Given the description of an element on the screen output the (x, y) to click on. 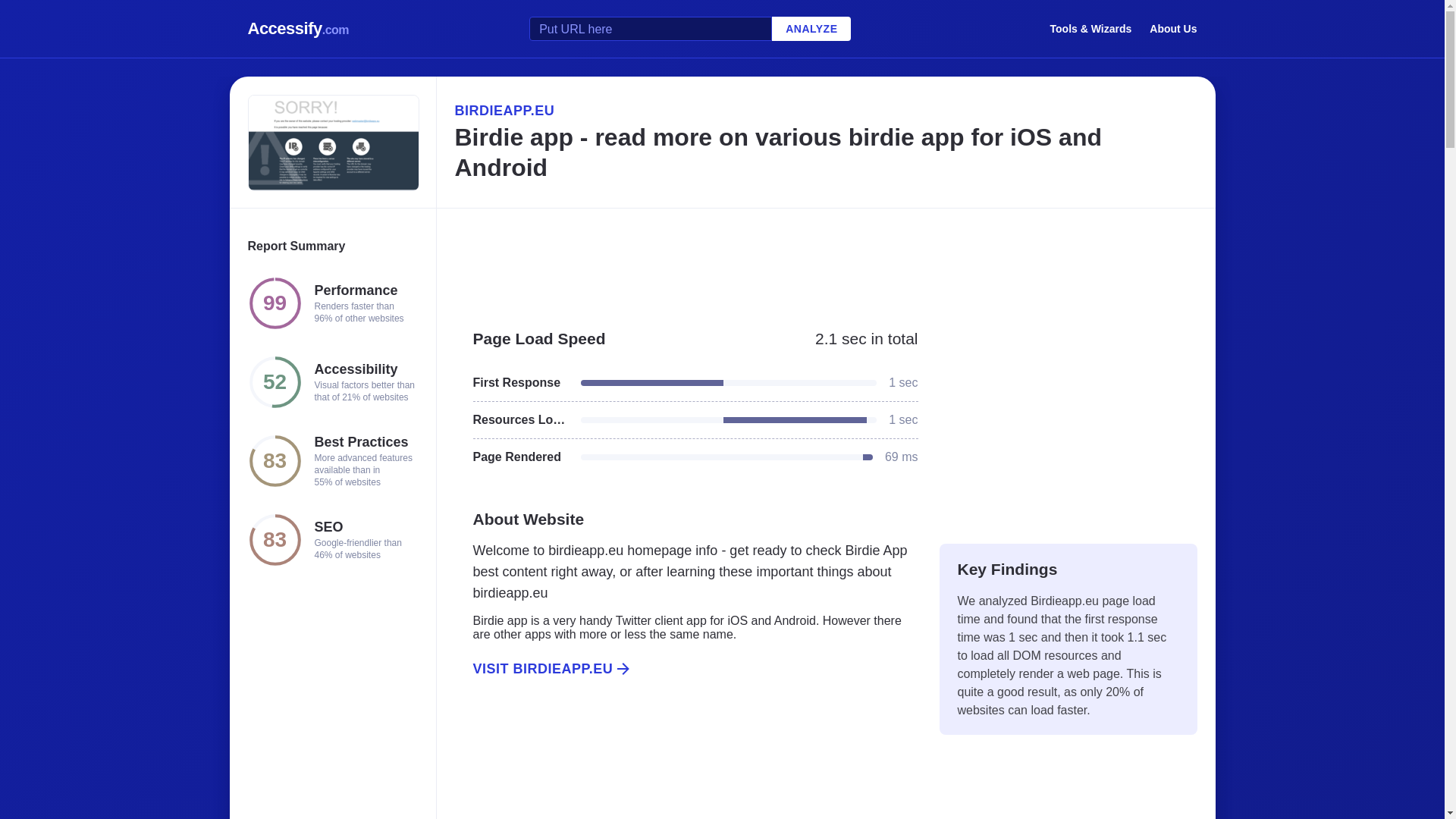
BIRDIEAPP.EU (825, 110)
Advertisement (825, 260)
About Us (1173, 28)
Accessify.com (298, 28)
ANALYZE (810, 28)
VISIT BIRDIEAPP.EU (686, 669)
Advertisement (1067, 418)
Advertisement (686, 765)
